Given the description of an element on the screen output the (x, y) to click on. 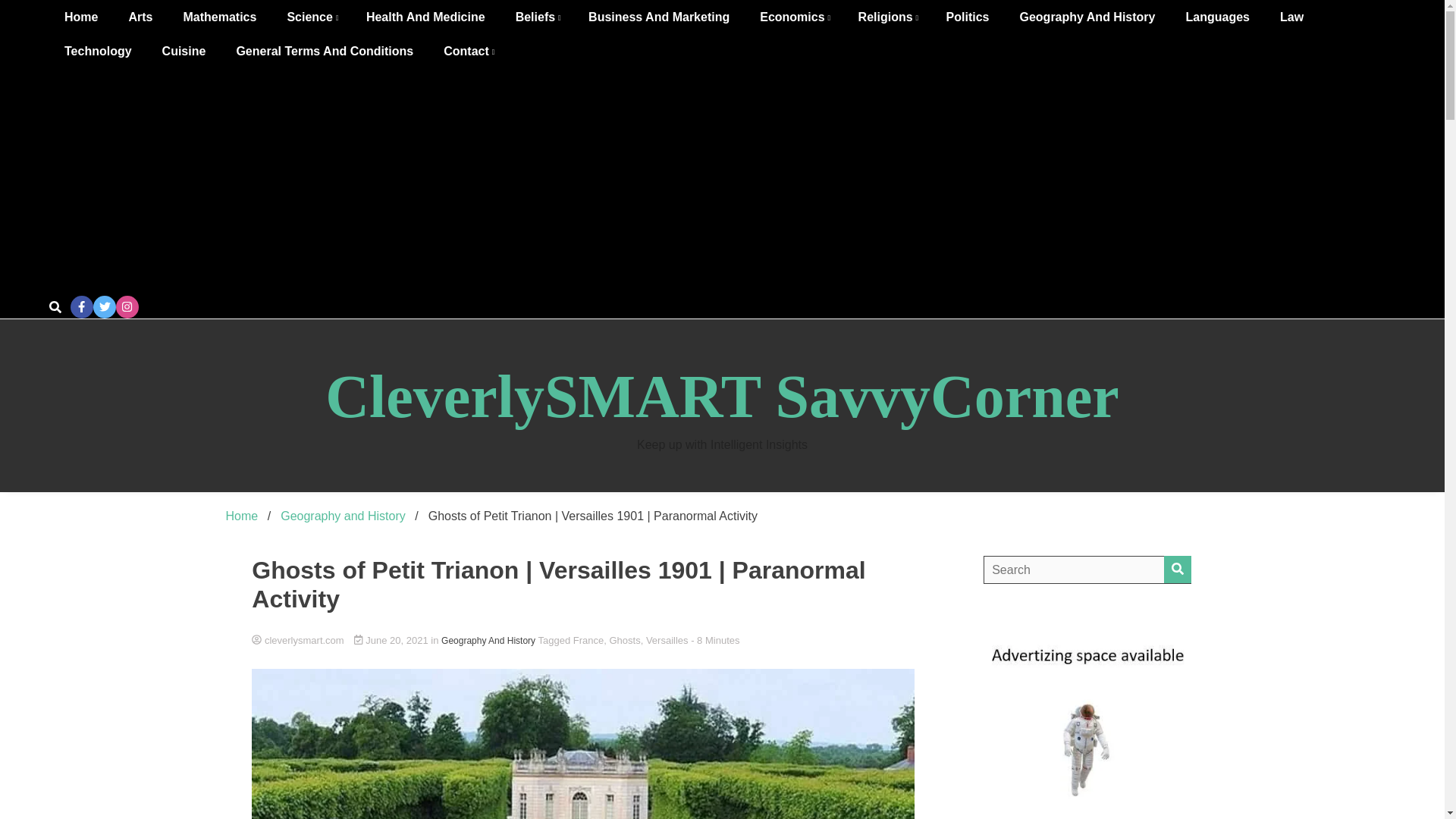
Health And Medicine (425, 17)
Religions (887, 17)
Science (310, 17)
Politics (967, 17)
General Terms And Conditions (324, 50)
Law (1292, 17)
Business And Marketing (658, 17)
Estimated Reading Time of Article (714, 640)
Contact (467, 50)
Mathematics (218, 17)
Arts (140, 17)
Languages (1216, 17)
Technology (98, 50)
Geography And History (1087, 17)
Beliefs (536, 17)
